Given the description of an element on the screen output the (x, y) to click on. 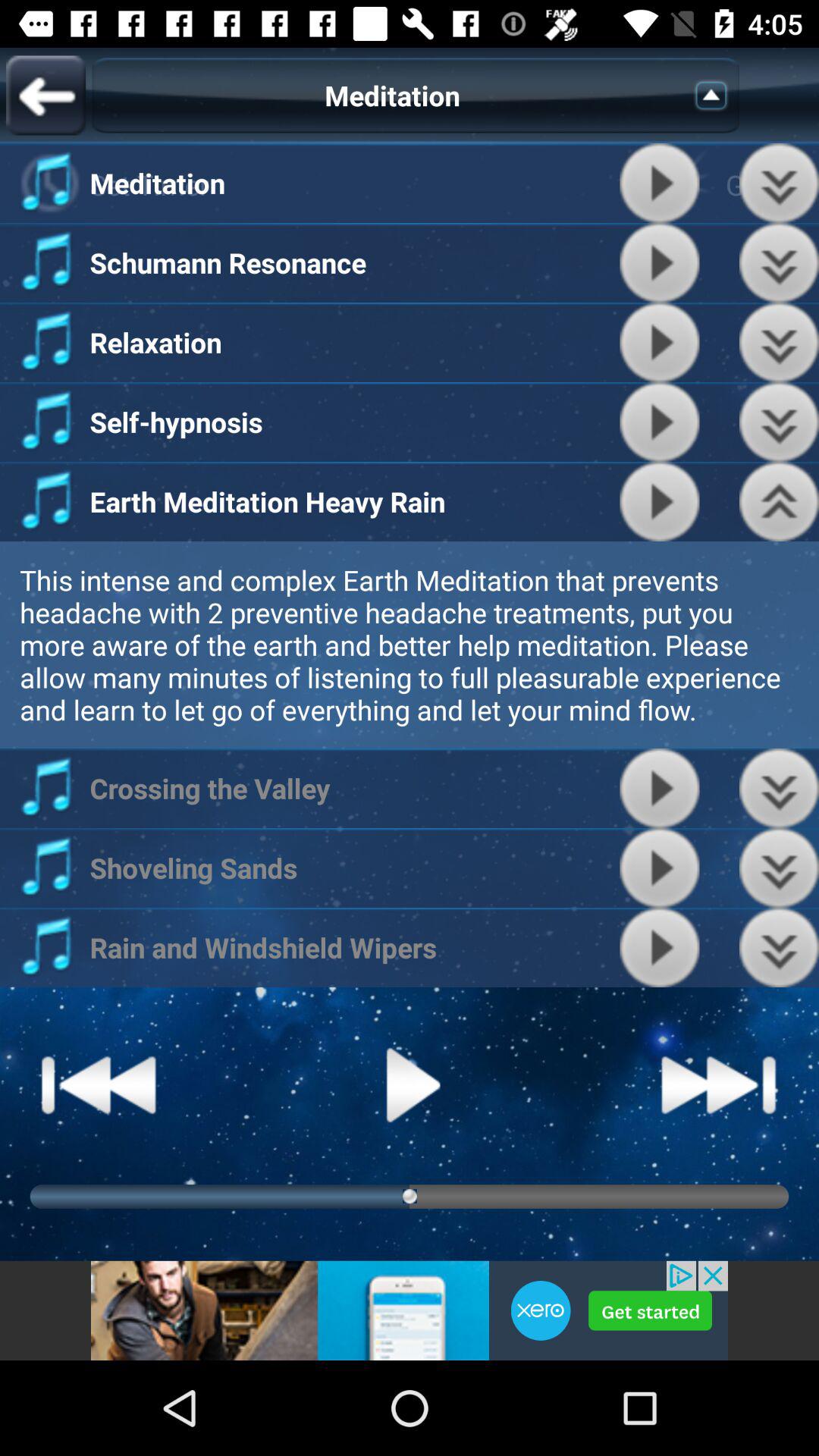
go to downarrow (779, 182)
